Given the description of an element on the screen output the (x, y) to click on. 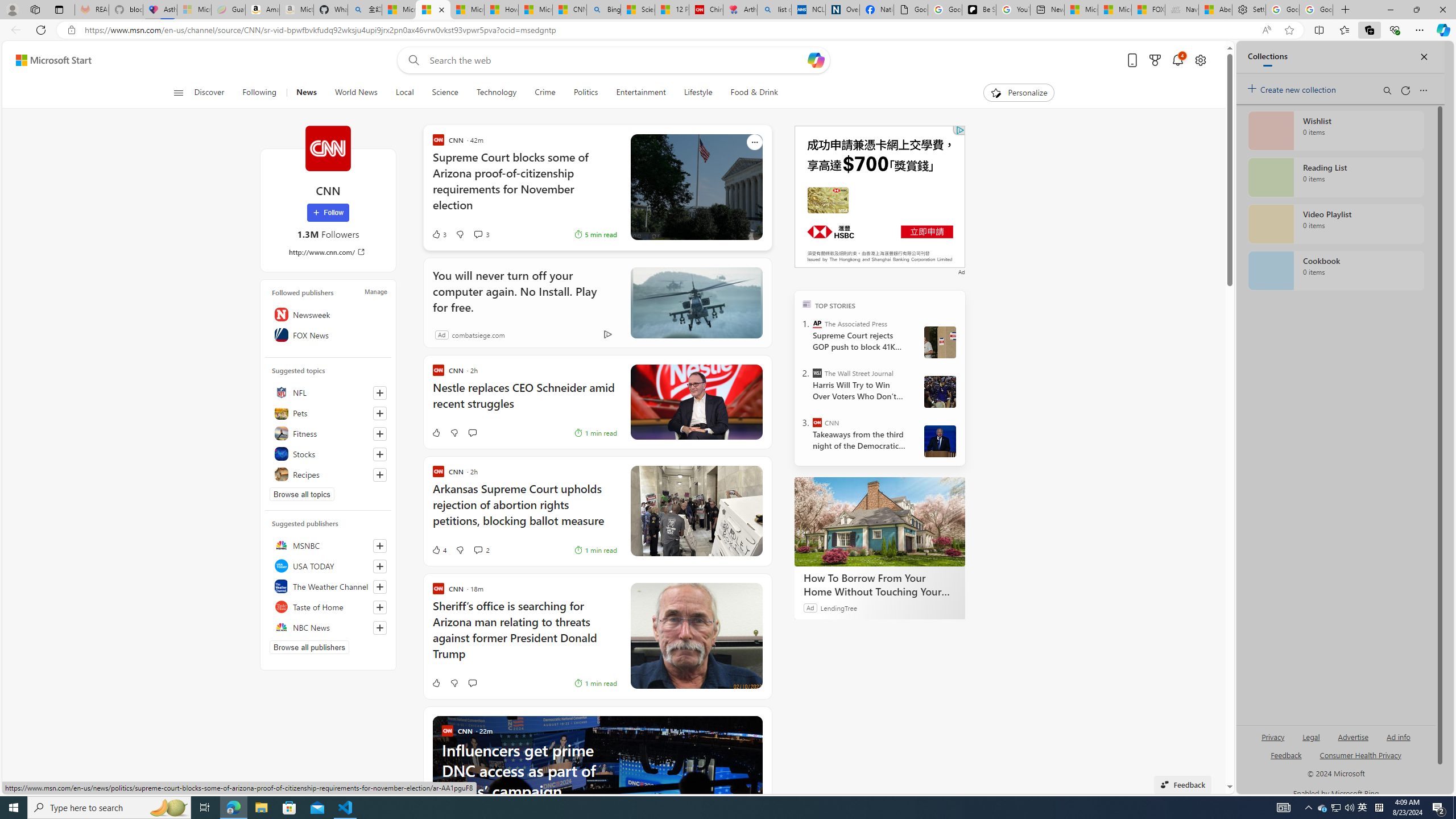
combatsiege.com (478, 334)
The Wall Street Journal (816, 372)
Lifestyle (697, 92)
TOP (806, 302)
Discover (213, 92)
Open Copilot (816, 59)
Browse all publishers (309, 647)
Skip to footer (46, 59)
